Given the description of an element on the screen output the (x, y) to click on. 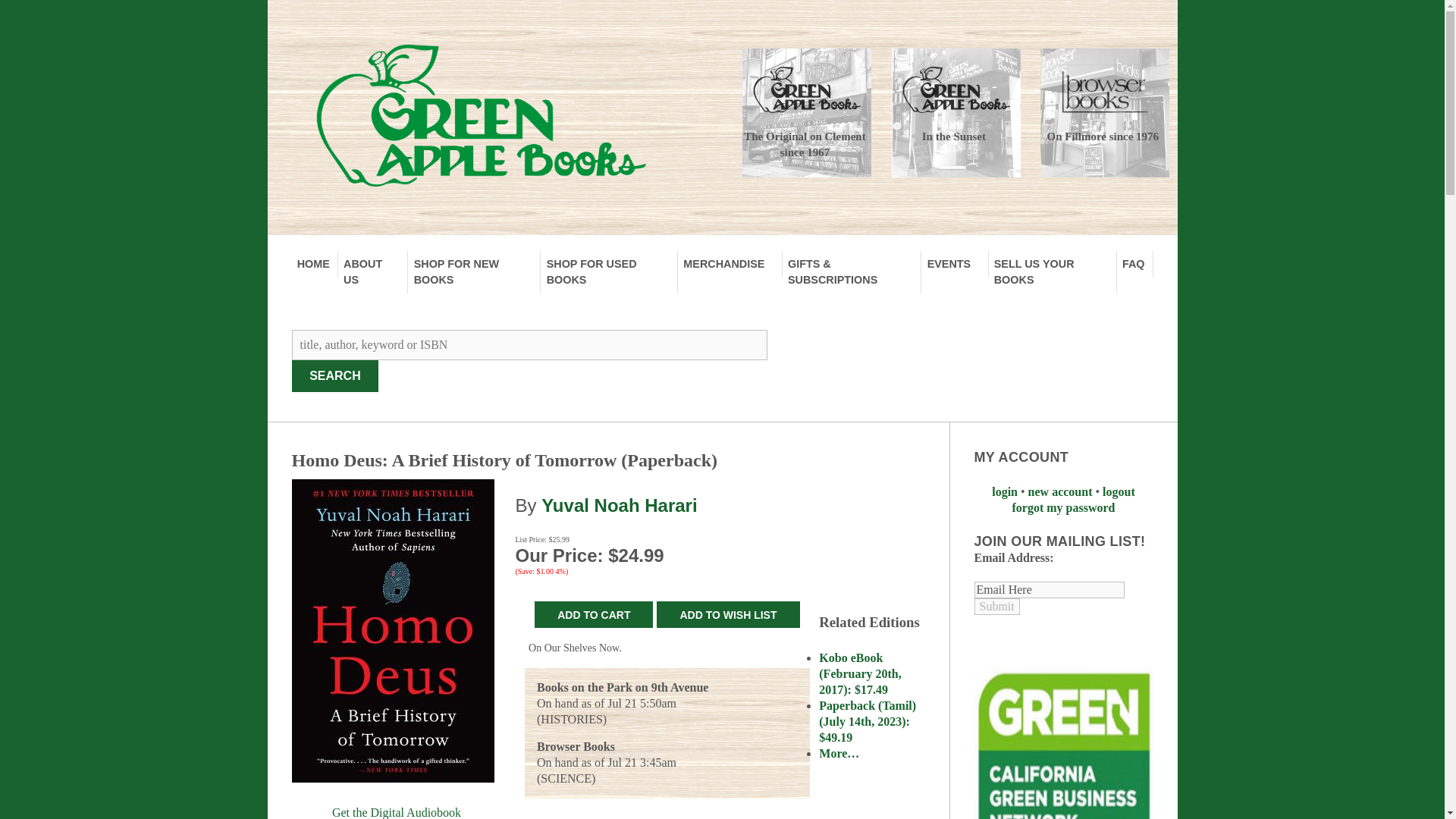
shop (473, 271)
HOME (314, 263)
Get the Digital Audiobook (396, 812)
Search (334, 376)
Submit (996, 606)
MERCHANDISE (730, 263)
SHOP FOR USED BOOKS (609, 271)
Add to Cart (593, 614)
ABOUT US (373, 271)
SHOP FOR NEW BOOKS (473, 271)
Email Here (1049, 589)
